Given the description of an element on the screen output the (x, y) to click on. 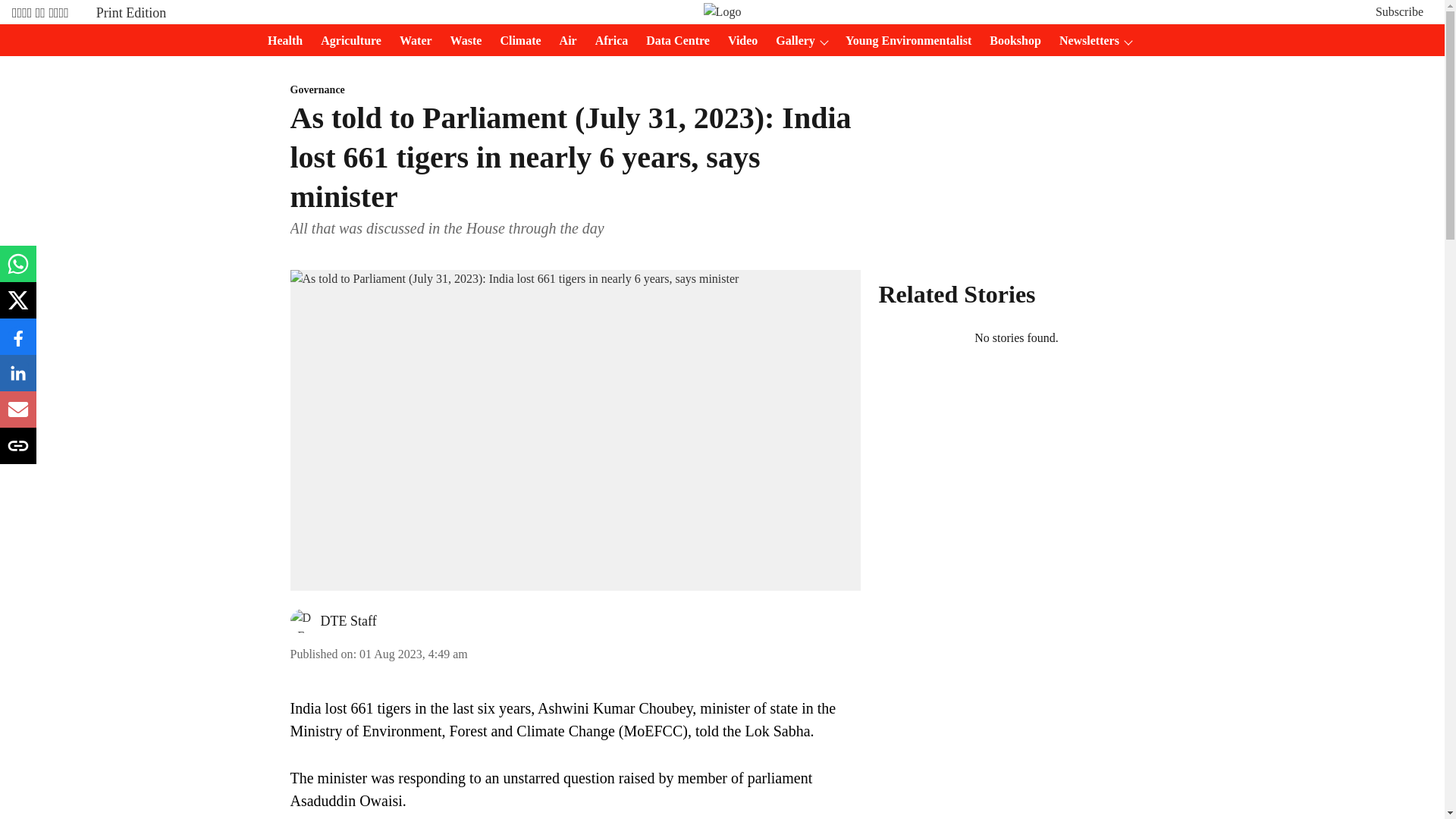
2023-08-01 04:49 (413, 653)
Health (280, 40)
Climate (515, 40)
Young Environmentalist (903, 40)
Waste (461, 40)
DTE Staff (347, 620)
Agriculture (346, 40)
Africa (607, 40)
Bookshop (1010, 40)
Data Centre (673, 40)
